Given the description of an element on the screen output the (x, y) to click on. 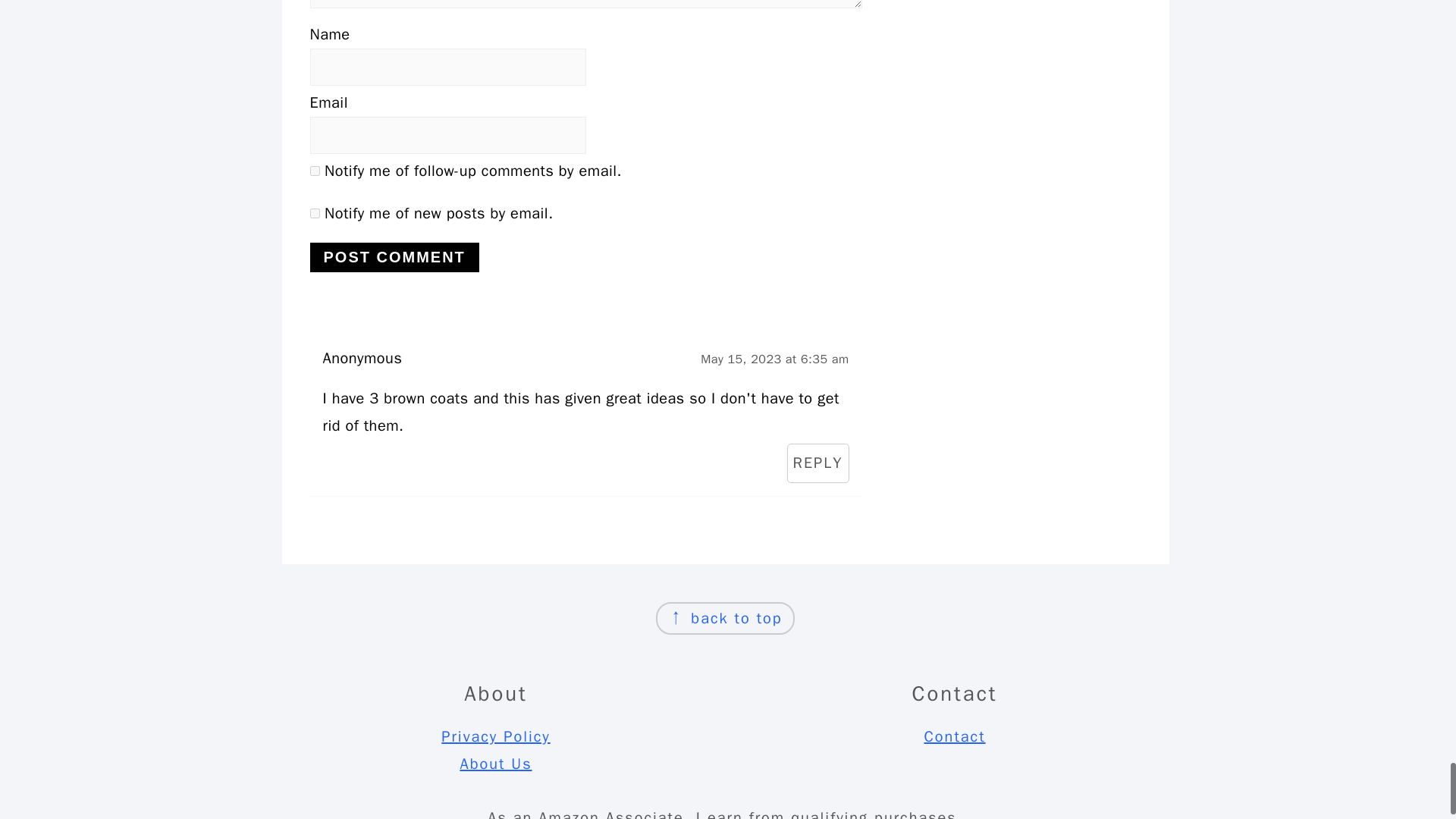
Post Comment (393, 256)
subscribe (313, 212)
subscribe (313, 170)
